Given the description of an element on the screen output the (x, y) to click on. 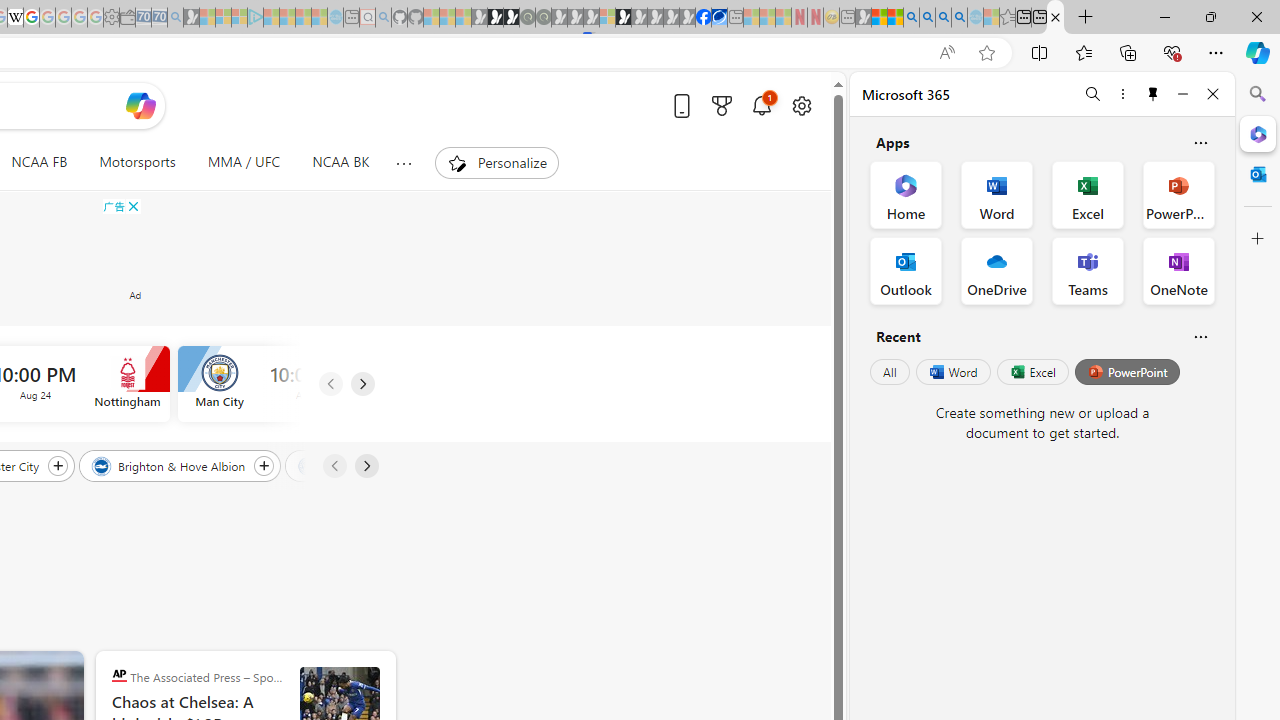
Man City vs Ipswich Time 10:00 PM Date Aug 24 (310, 383)
Next (365, 465)
NCAA FB (39, 162)
